Given the description of an element on the screen output the (x, y) to click on. 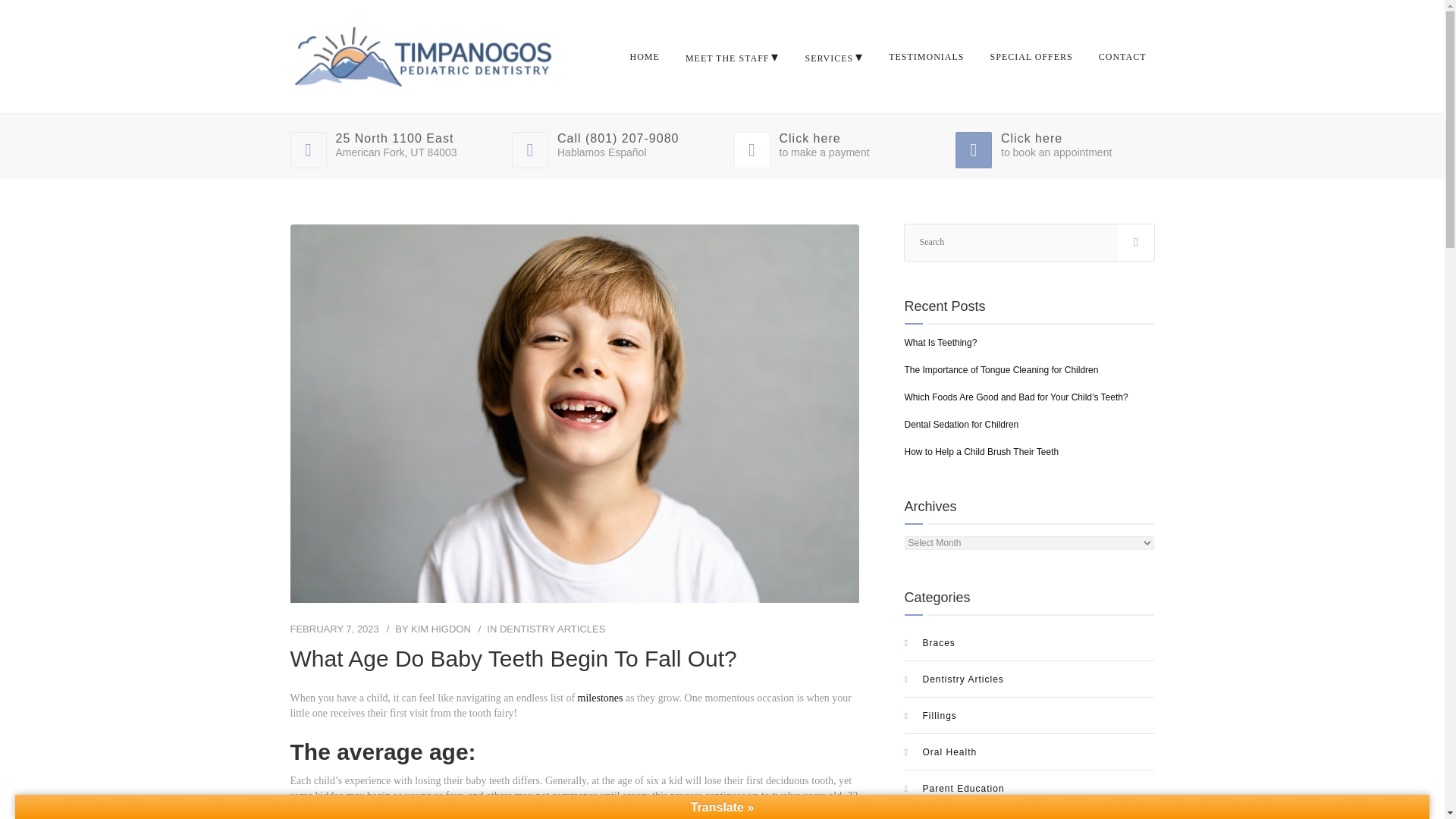
Dental Sedation for Children (960, 424)
MEET THE STAFF (732, 56)
TESTIMONIALS (926, 56)
What Is Teething? (940, 342)
CONTACT (1122, 56)
SPECIAL OFFERS (1031, 56)
The Importance of Tongue Cleaning for Children (1000, 369)
DENTISTRY ARTICLES (552, 628)
HOME (644, 56)
KIM HIGDON (440, 628)
milestones (599, 697)
SERVICES (833, 56)
